Given the description of an element on the screen output the (x, y) to click on. 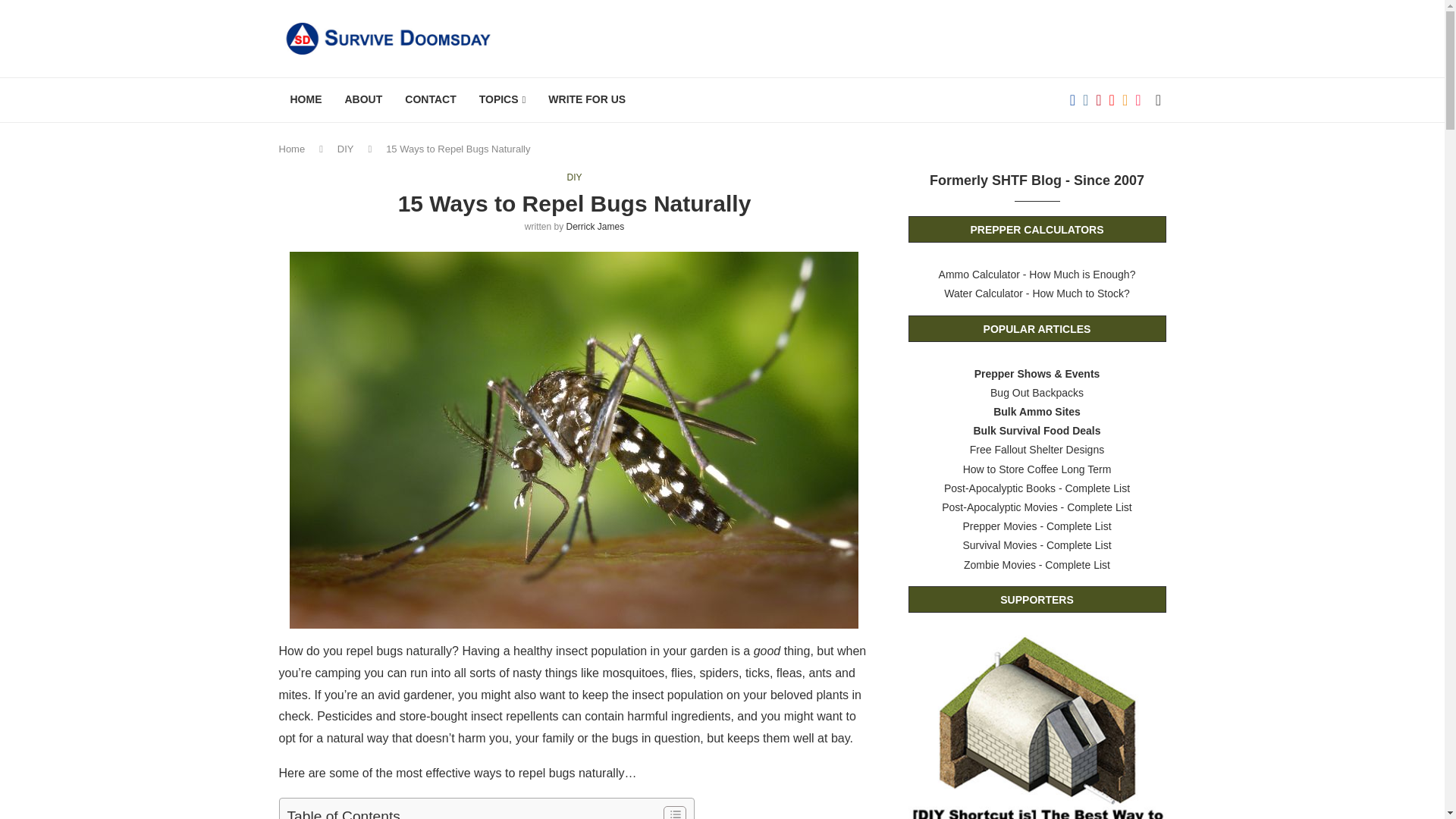
HOME (306, 99)
WRITE FOR US (587, 99)
Home (292, 148)
CONTACT (430, 99)
ABOUT (363, 99)
TOPICS (502, 99)
